Given the description of an element on the screen output the (x, y) to click on. 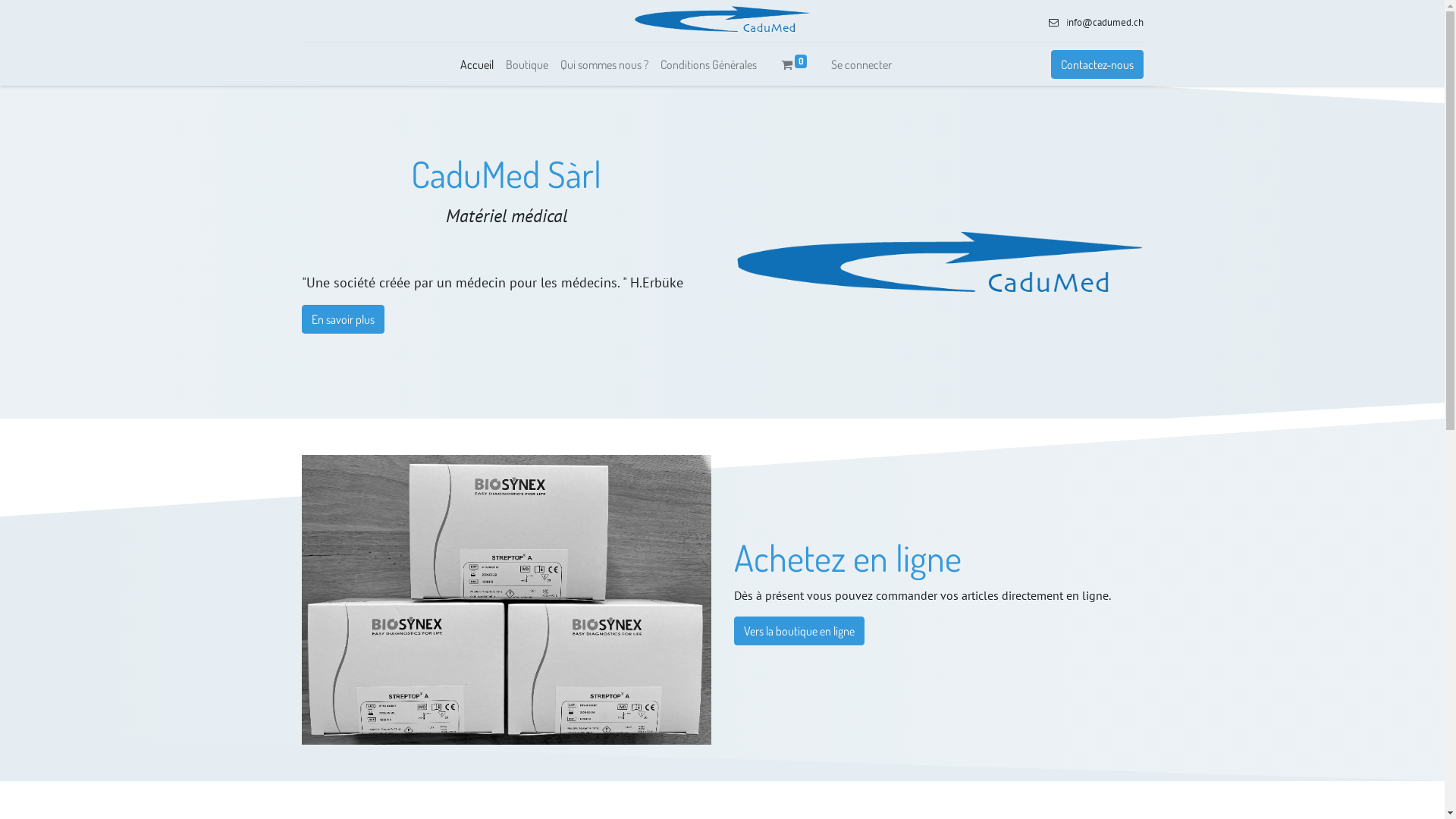
Se connecter Element type: text (861, 64)
En savoir plus Element type: text (342, 318)
Accueil Element type: text (476, 64)
0 Element type: text (794, 64)
Contactez-nous Element type: text (1097, 64)
CaduMed Sarl Element type: hover (721, 21)
Vers la boutique en ligne Element type: text (799, 630)
Qui sommes nous ? Element type: text (604, 64)
Boutique Element type: text (526, 64)
i Element type: text (1067, 21)
